Given the description of an element on the screen output the (x, y) to click on. 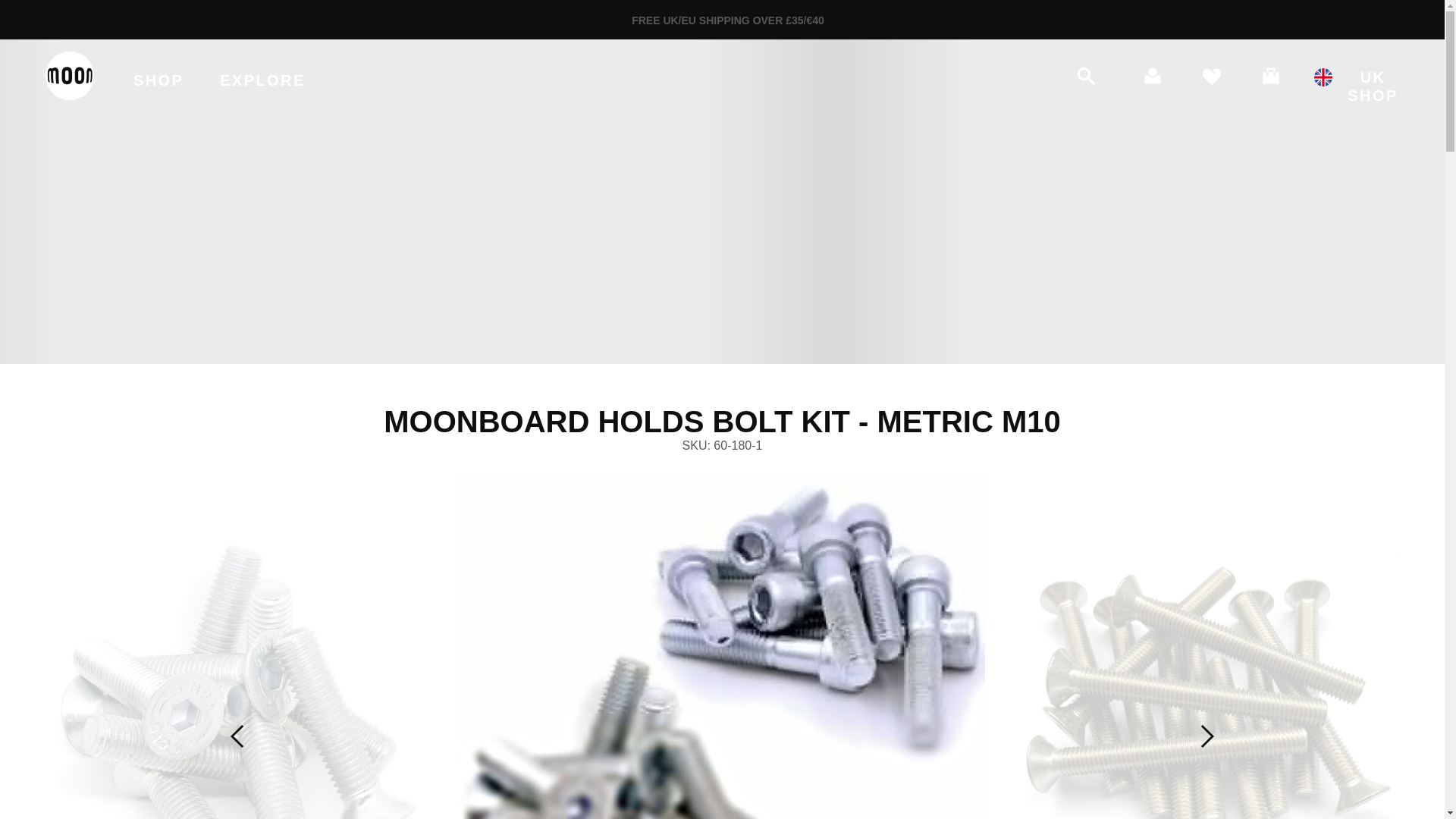
UK SHOP (1358, 85)
Shop (158, 75)
SHOP (158, 75)
Search (1103, 75)
